Given the description of an element on the screen output the (x, y) to click on. 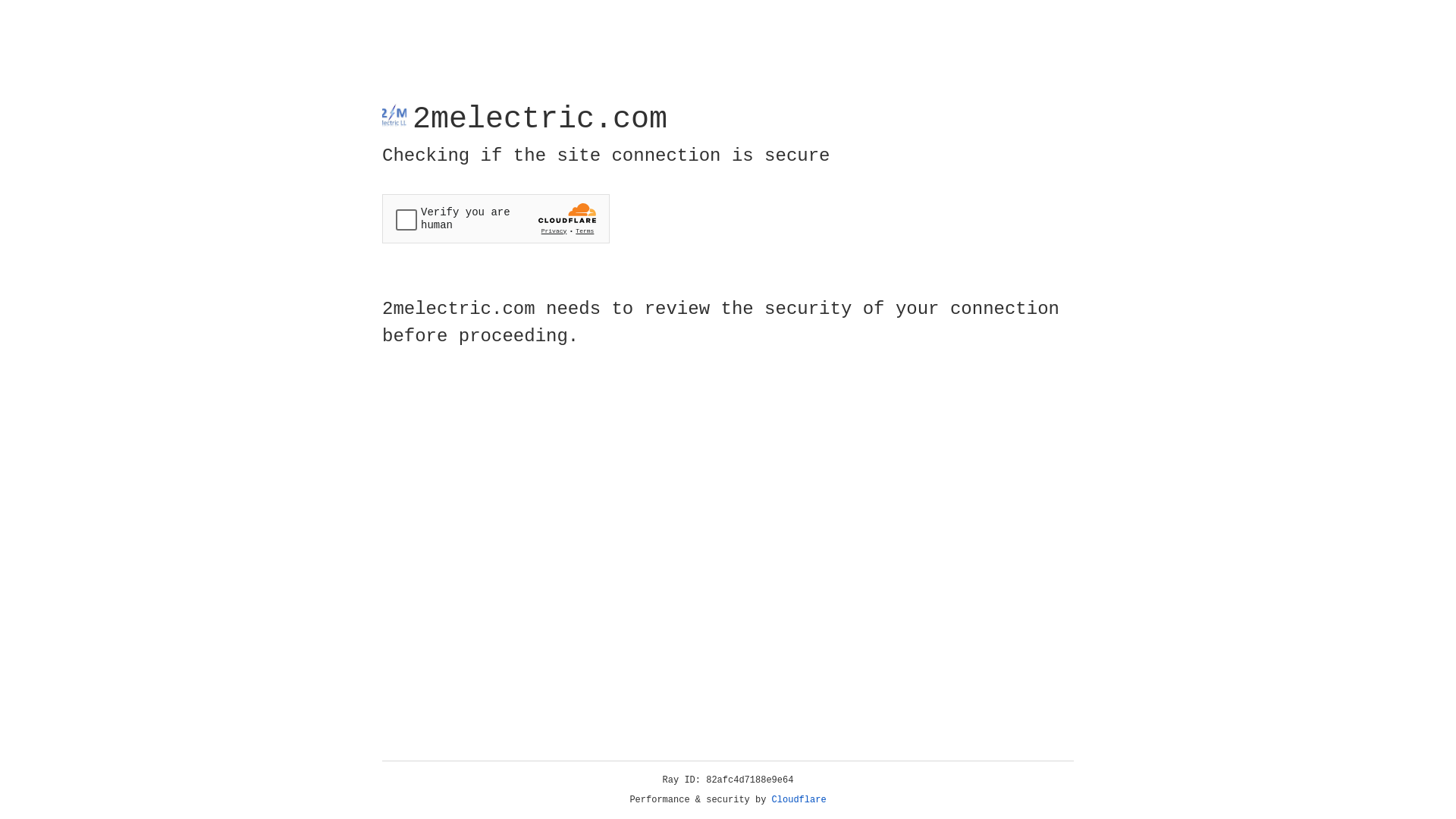
Cloudflare Element type: text (798, 799)
Widget containing a Cloudflare security challenge Element type: hover (495, 218)
